Given the description of an element on the screen output the (x, y) to click on. 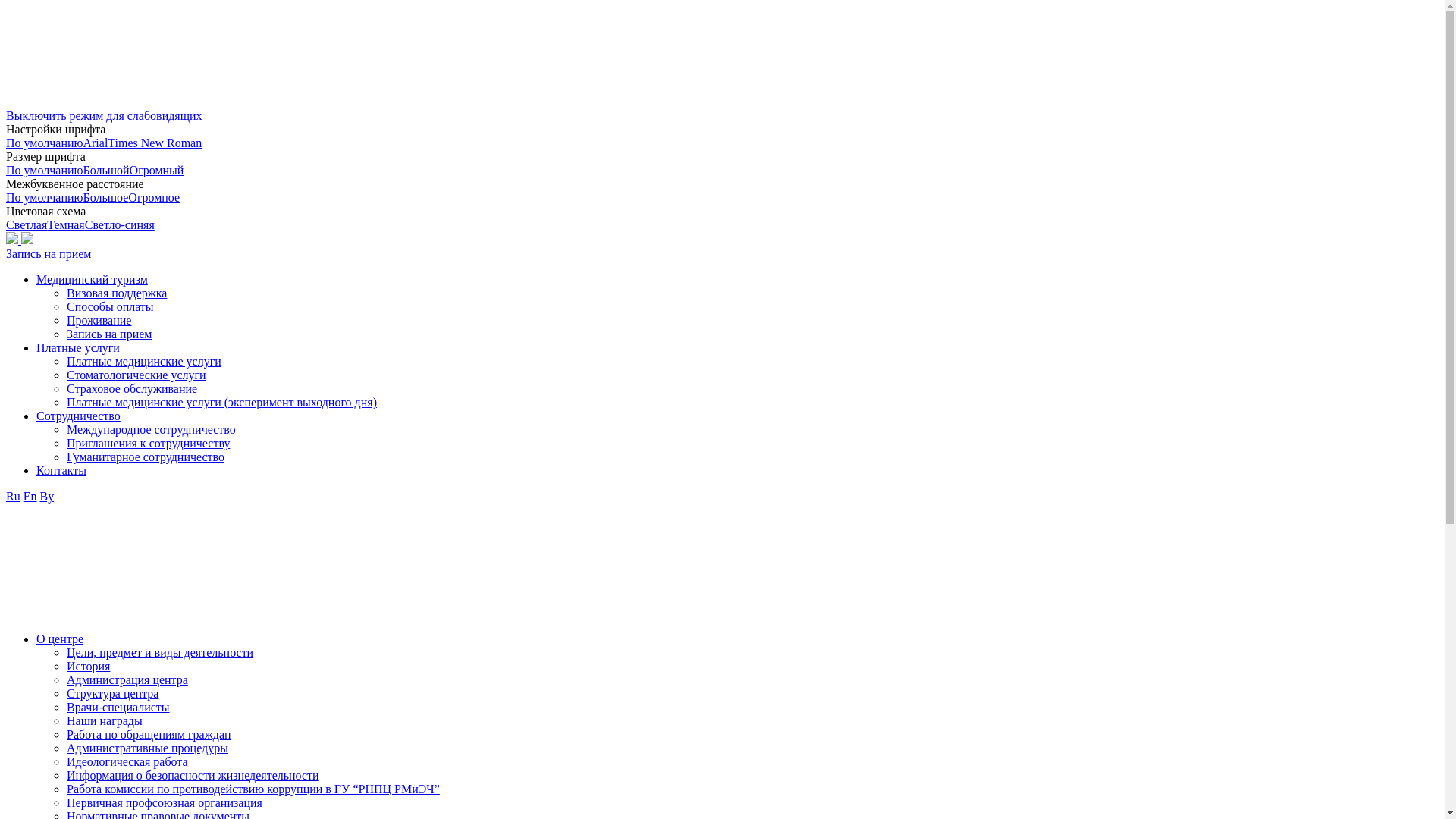
Times New Roman Element type: text (154, 142)
Ru Element type: text (13, 495)
By Element type: text (46, 495)
Arial Element type: text (94, 142)
En Element type: text (30, 495)
